Given the description of an element on the screen output the (x, y) to click on. 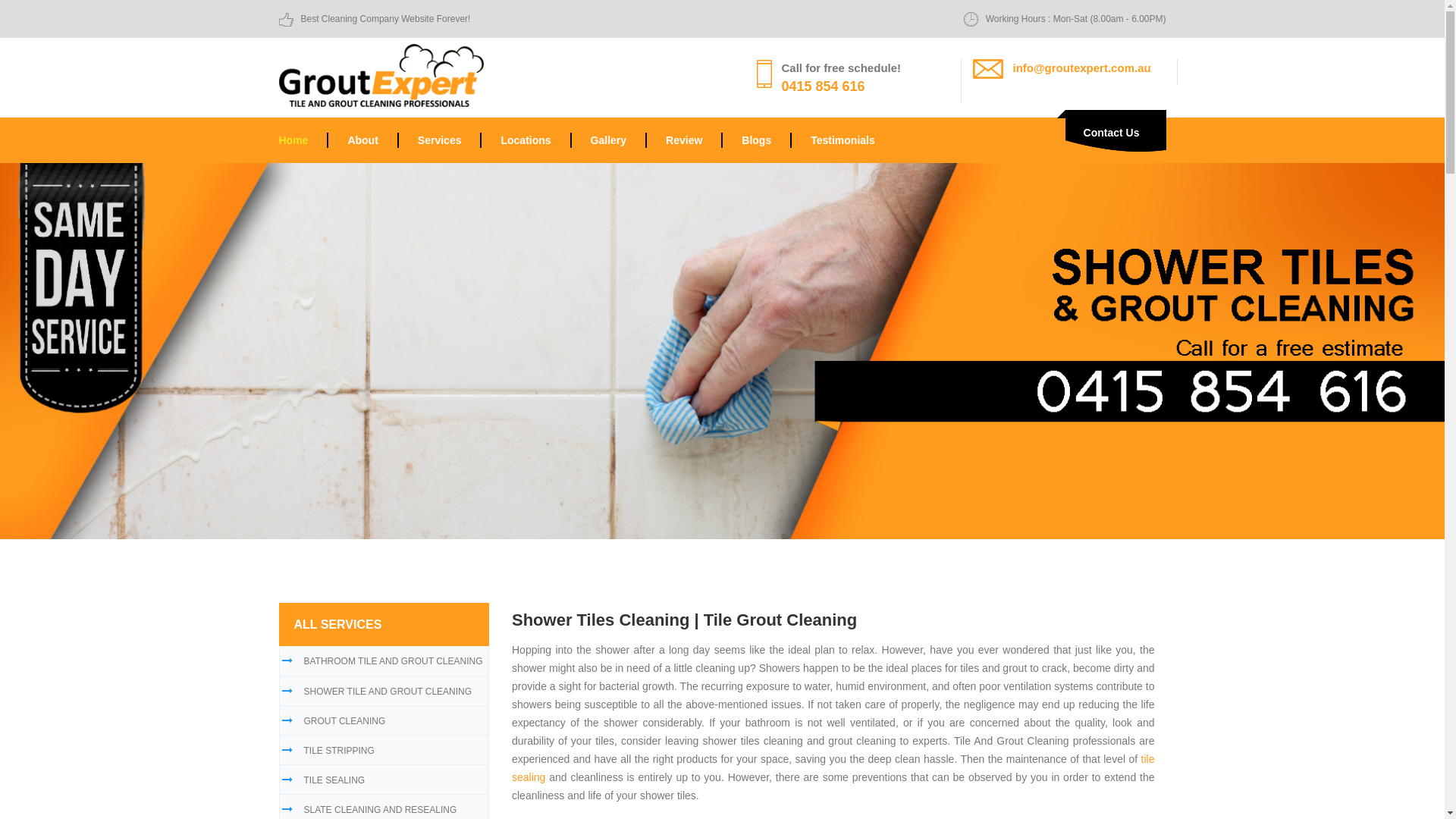
About Element type: text (362, 139)
Testimonials Element type: text (832, 139)
TILE SEALING Element type: text (333, 780)
Review Element type: text (683, 139)
Services Element type: text (439, 139)
info@groutexpert.com.au Element type: text (1082, 67)
Contact Us Element type: text (1111, 132)
0415 854 616 Element type: text (822, 86)
Home Element type: text (303, 139)
Gallery Element type: text (608, 139)
BATHROOM TILE AND GROUT CLEANING Element type: text (392, 660)
GROUT CLEANING Element type: text (344, 720)
tile sealing Element type: text (832, 768)
Logo Element type: hover (381, 74)
Locations Element type: text (525, 139)
Blogs Element type: text (755, 139)
SLATE CLEANING AND RESEALING Element type: text (379, 809)
TILE STRIPPING Element type: text (338, 750)
SHOWER TILE AND GROUT CLEANING Element type: text (387, 691)
